Given the description of an element on the screen output the (x, y) to click on. 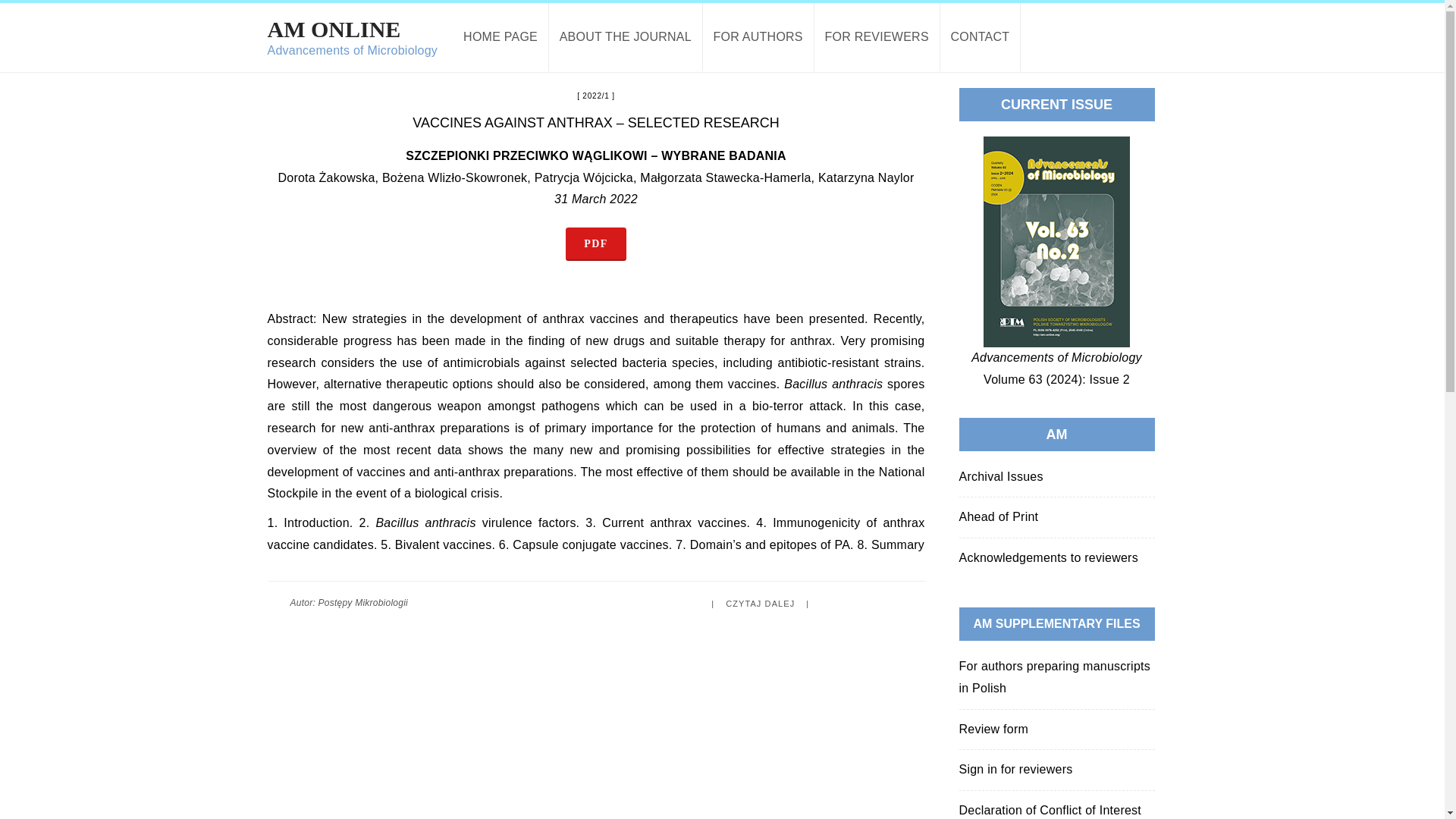
Declaration of Conflict of Interest (1049, 809)
Current Issue (1056, 241)
HOME PAGE (500, 37)
Acknowledgements to reviewers (1047, 557)
CONTACT (981, 37)
Archival Issues (1000, 476)
ABOUT THE JOURNAL (625, 37)
Review form (352, 37)
FOR AUTHORS (992, 728)
FOR REVIEWERS (758, 37)
For authors preparing manuscripts in Polish (876, 37)
Ahead of Print (1054, 677)
Sign in for reviewers (998, 516)
PDF (1014, 768)
